Given the description of an element on the screen output the (x, y) to click on. 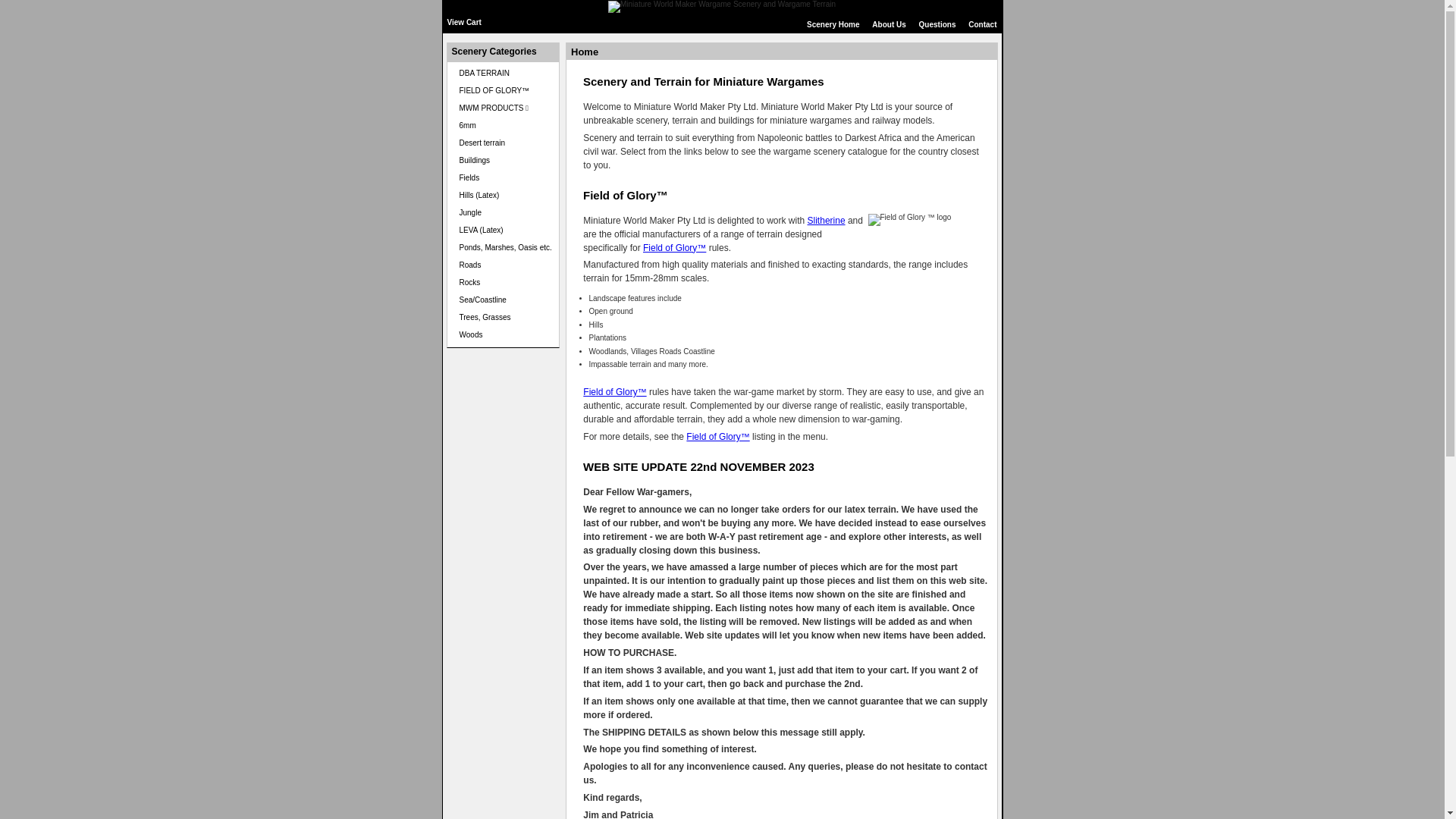
Buildings Element type: text (474, 160)
Jungle Element type: text (470, 212)
Desert terrain Element type: text (482, 142)
6mm Element type: text (467, 125)
Contact Element type: text (981, 24)
Hills (Latex) Element type: text (479, 194)
Rocks Element type: text (469, 282)
Trees, Grasses Element type: text (485, 317)
DBA TERRAIN Element type: text (484, 72)
Slitherine Element type: text (826, 220)
Scenery Home Element type: text (832, 24)
Ponds, Marshes, Oasis etc. Element type: text (505, 247)
Woods Element type: text (471, 334)
View Cart Element type: text (464, 22)
Questions Element type: text (937, 24)
Roads Element type: text (470, 264)
About Us Element type: text (888, 24)
LEVA (Latex) Element type: text (481, 229)
Sea/Coastline Element type: text (482, 299)
Fields Element type: text (469, 177)
